Given the description of an element on the screen output the (x, y) to click on. 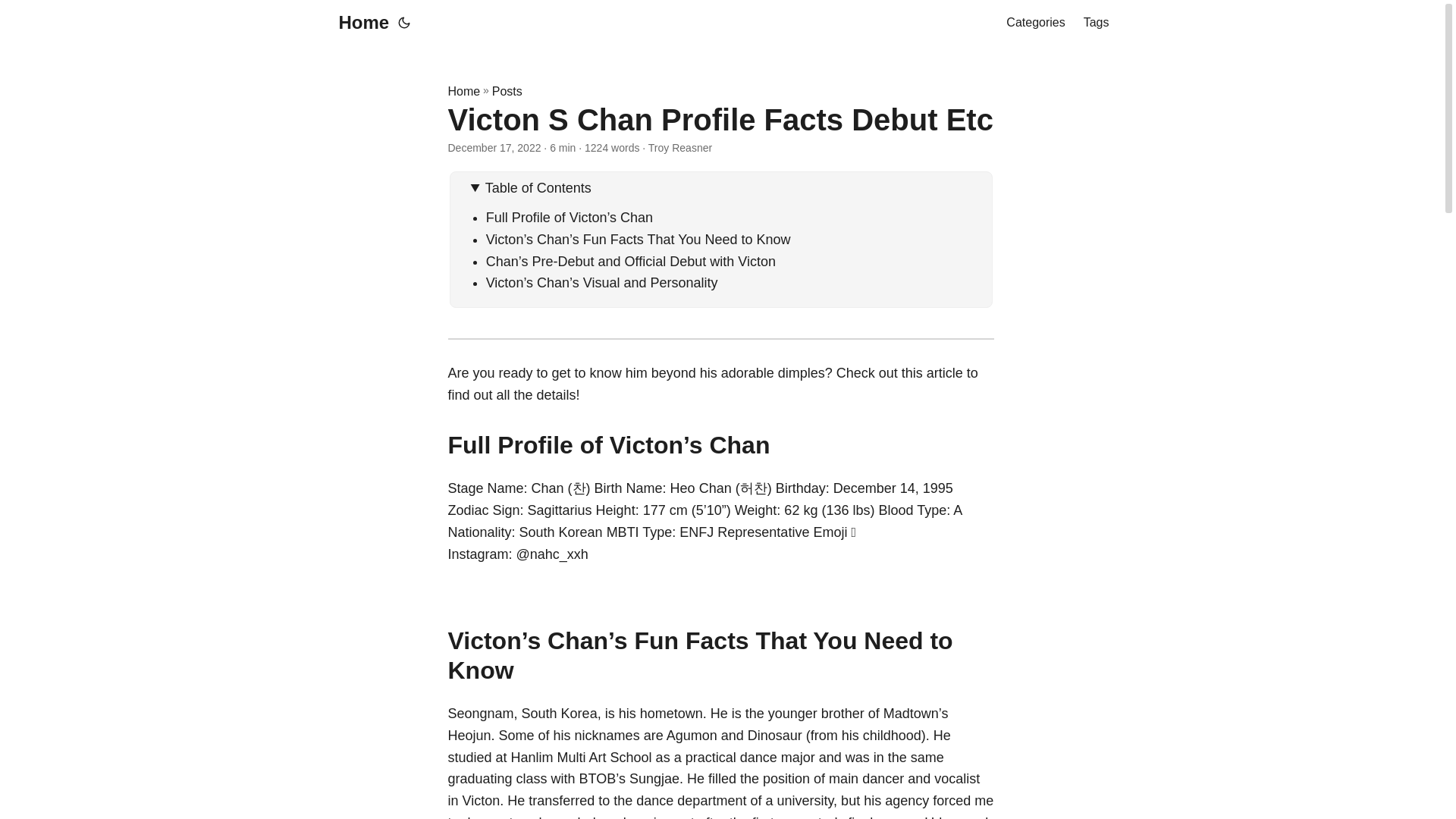
Posts (507, 91)
Categories (1035, 22)
Home (359, 22)
Home (463, 91)
Categories (1035, 22)
